Given the description of an element on the screen output the (x, y) to click on. 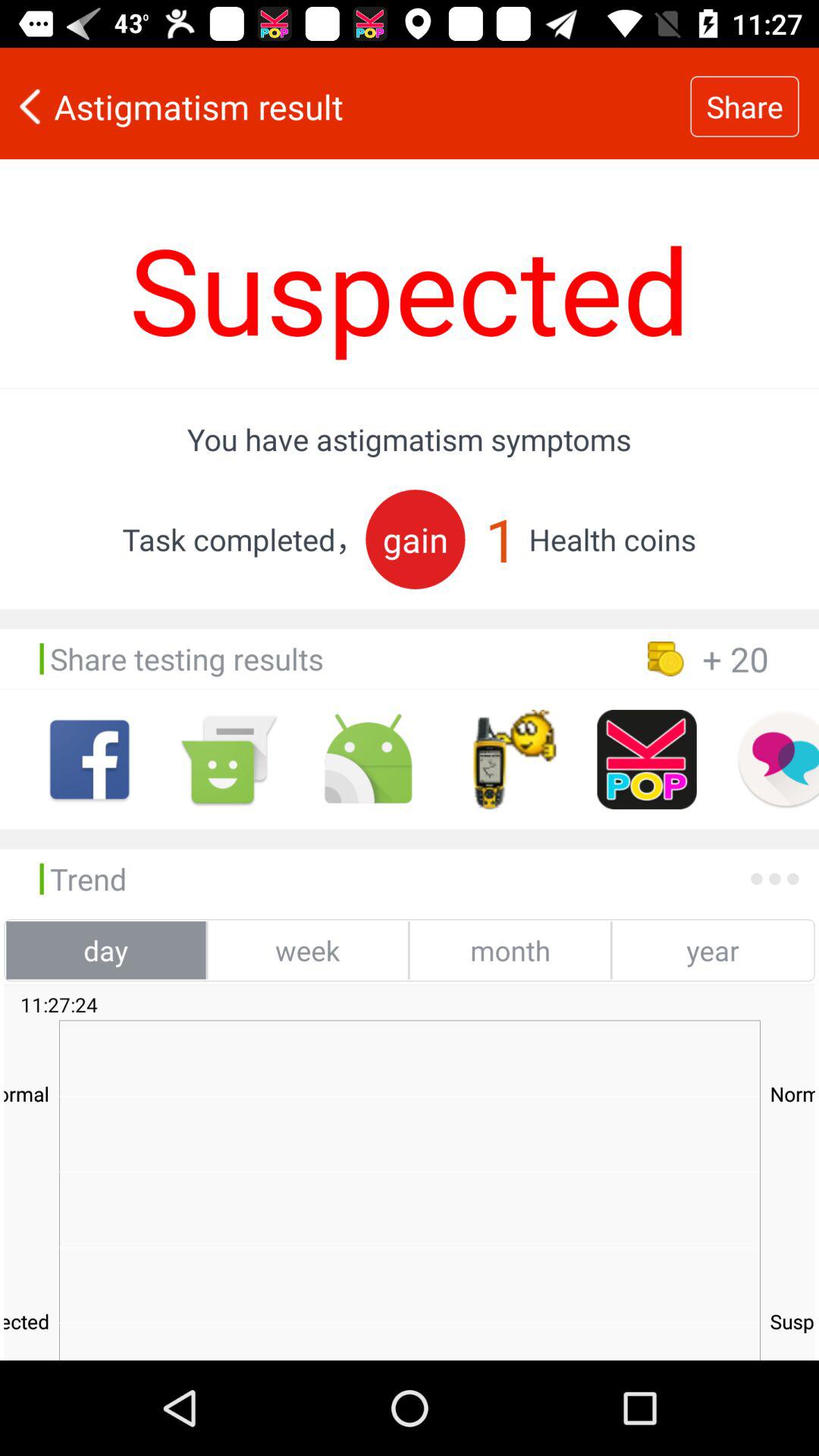
turn on astigmatism result item (345, 106)
